Given the description of an element on the screen output the (x, y) to click on. 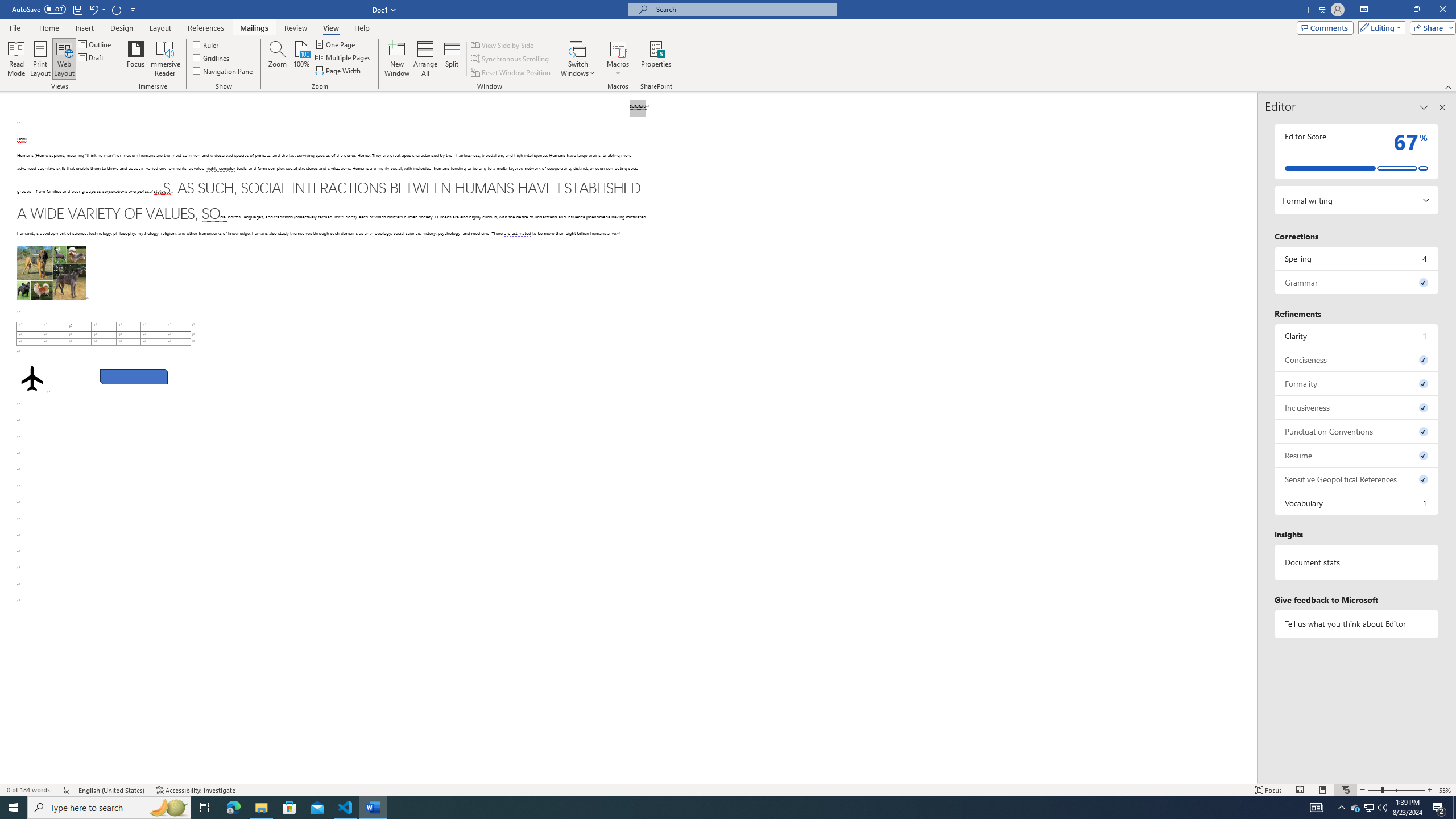
View Side by Side (502, 44)
Navigation Pane (223, 69)
Vocabulary, 1 issue. Press space or enter to review items. (1356, 502)
Multiple Pages (343, 56)
Tell us what you think about Editor (1356, 624)
Formality, 0 issues. Press space or enter to review items. (1356, 383)
Immersive Reader (165, 58)
Conciseness, 0 issues. Press space or enter to review items. (1356, 359)
Morphological variation in six dogs (51, 272)
